Given the description of an element on the screen output the (x, y) to click on. 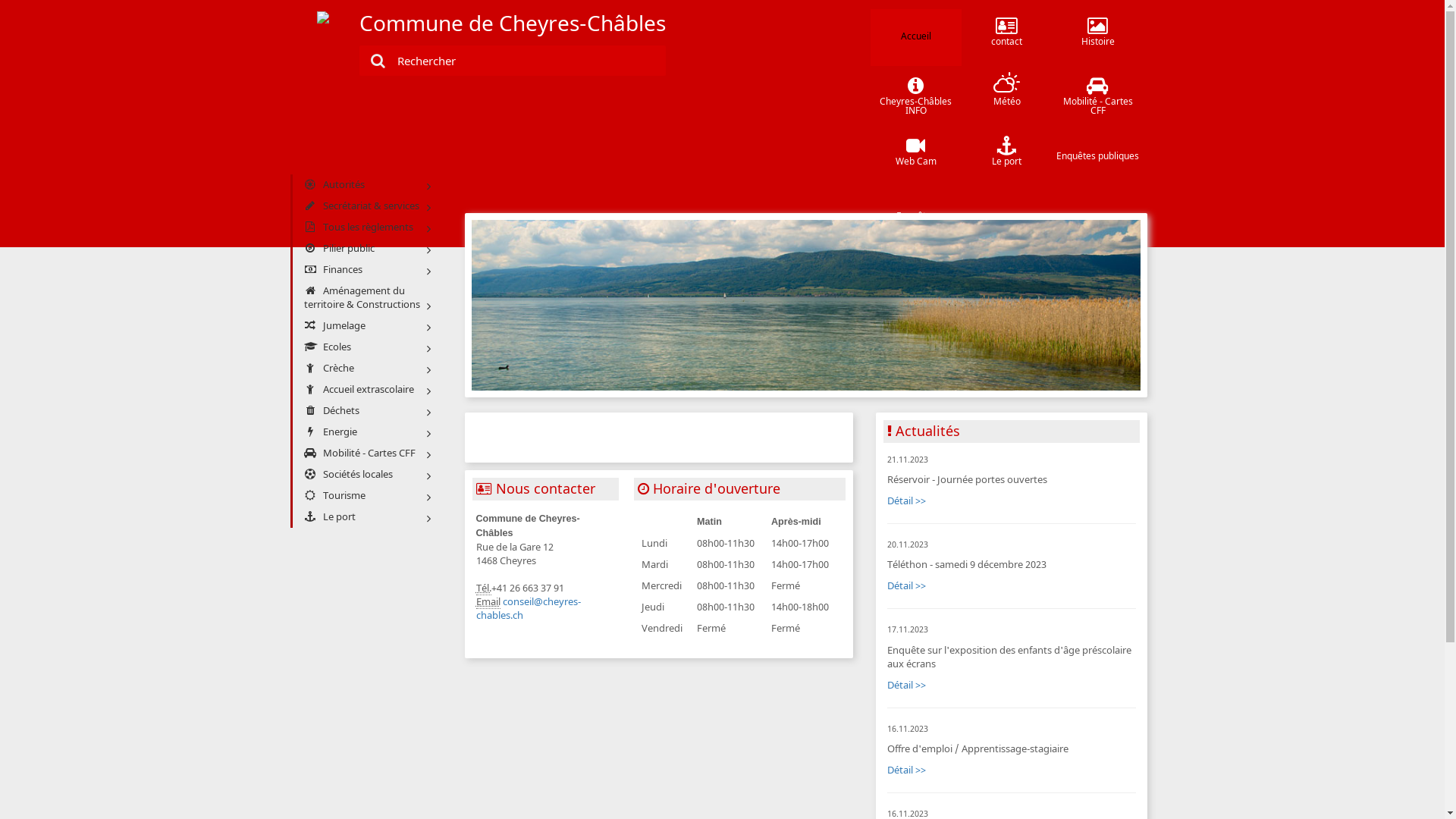
Pilier public Element type: text (365, 248)
Le port Element type: text (365, 516)
Ecoles Element type: text (365, 346)
Le port Element type: text (1006, 156)
Histoire Element type: text (1097, 37)
contact Element type: text (1006, 37)
Web Cam Element type: text (915, 156)
Accueil extrascolaire Element type: text (365, 389)
conseil@cheyres-chables.ch Element type: text (528, 608)
Finances Element type: text (365, 269)
Energie Element type: text (365, 431)
Jumelage Element type: text (365, 325)
Accueil Element type: text (915, 37)
Tourisme Element type: text (365, 495)
